Given the description of an element on the screen output the (x, y) to click on. 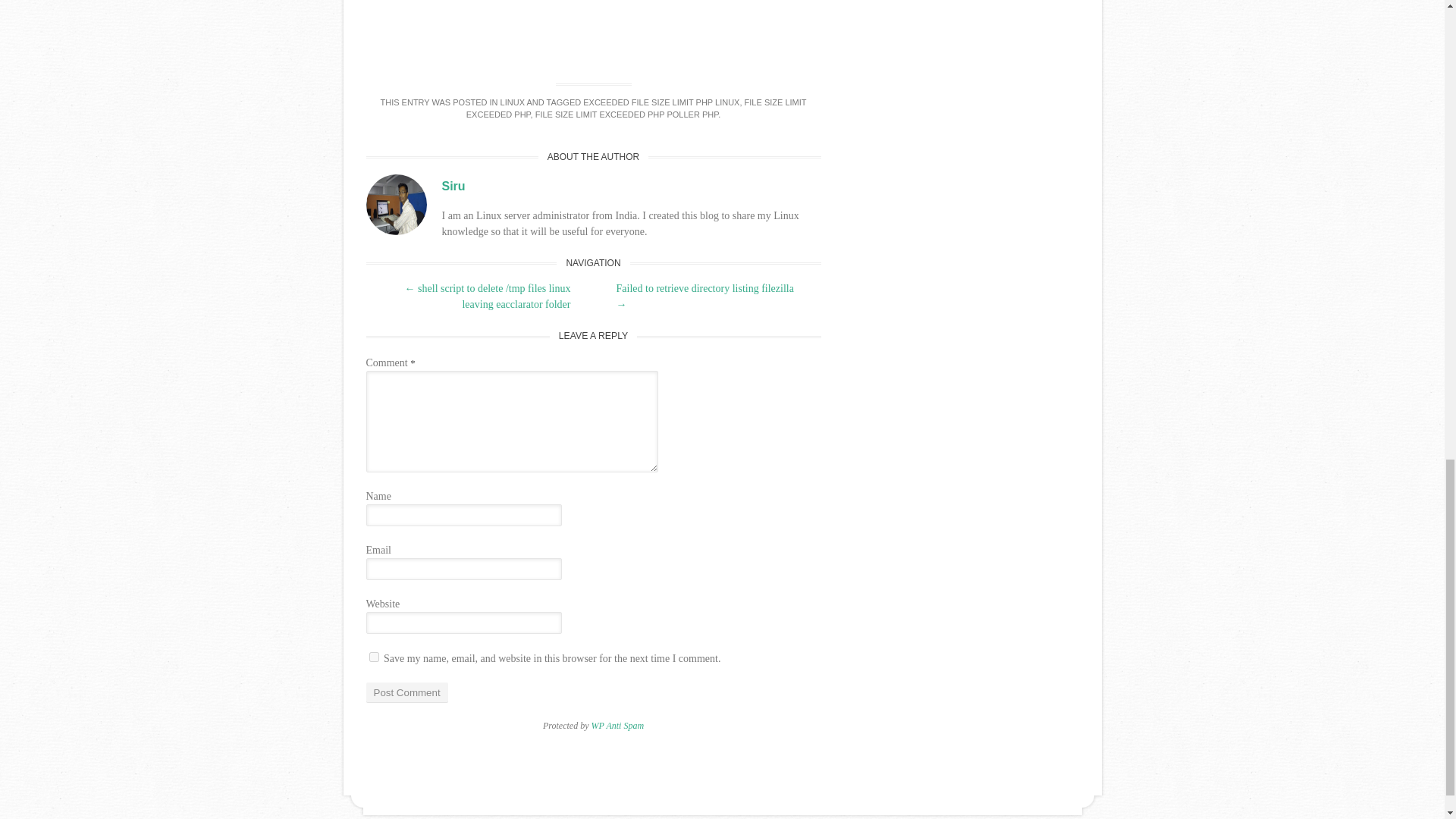
Post Comment (405, 692)
FILE SIZE LIMIT EXCEEDED PHP (635, 108)
Siru (452, 185)
EXCEEDED FILE SIZE LIMIT PHP LINUX (661, 102)
FILE SIZE LIMIT EXCEEDED PHP POLLER PHP (626, 113)
Post Comment (405, 692)
WP Anti Spam (617, 725)
yes (373, 656)
LINUX (512, 102)
